Given the description of an element on the screen output the (x, y) to click on. 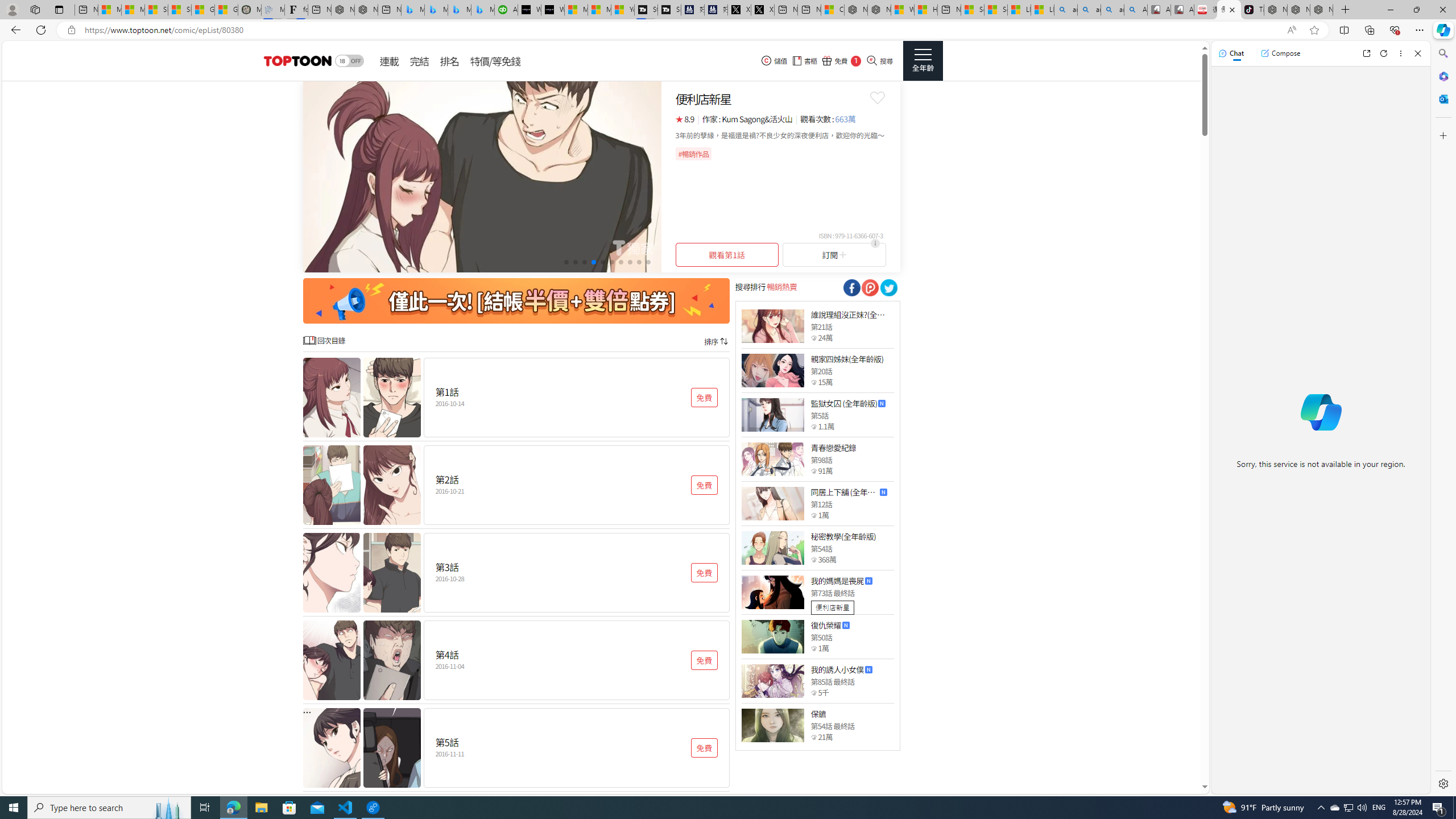
Go to slide 6 (611, 261)
